Given the description of an element on the screen output the (x, y) to click on. 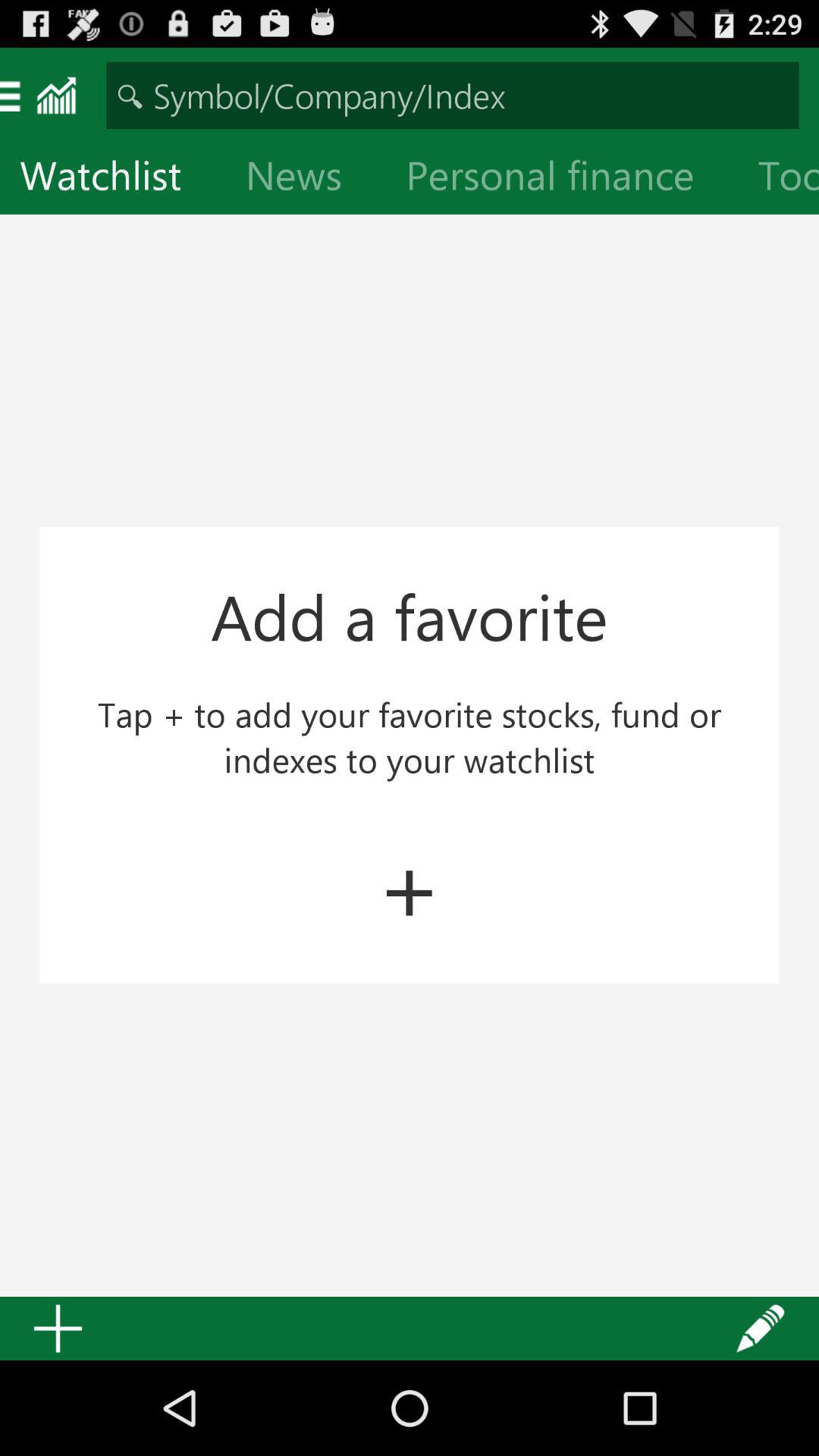
turn off the icon to the right of the news item (562, 178)
